Given the description of an element on the screen output the (x, y) to click on. 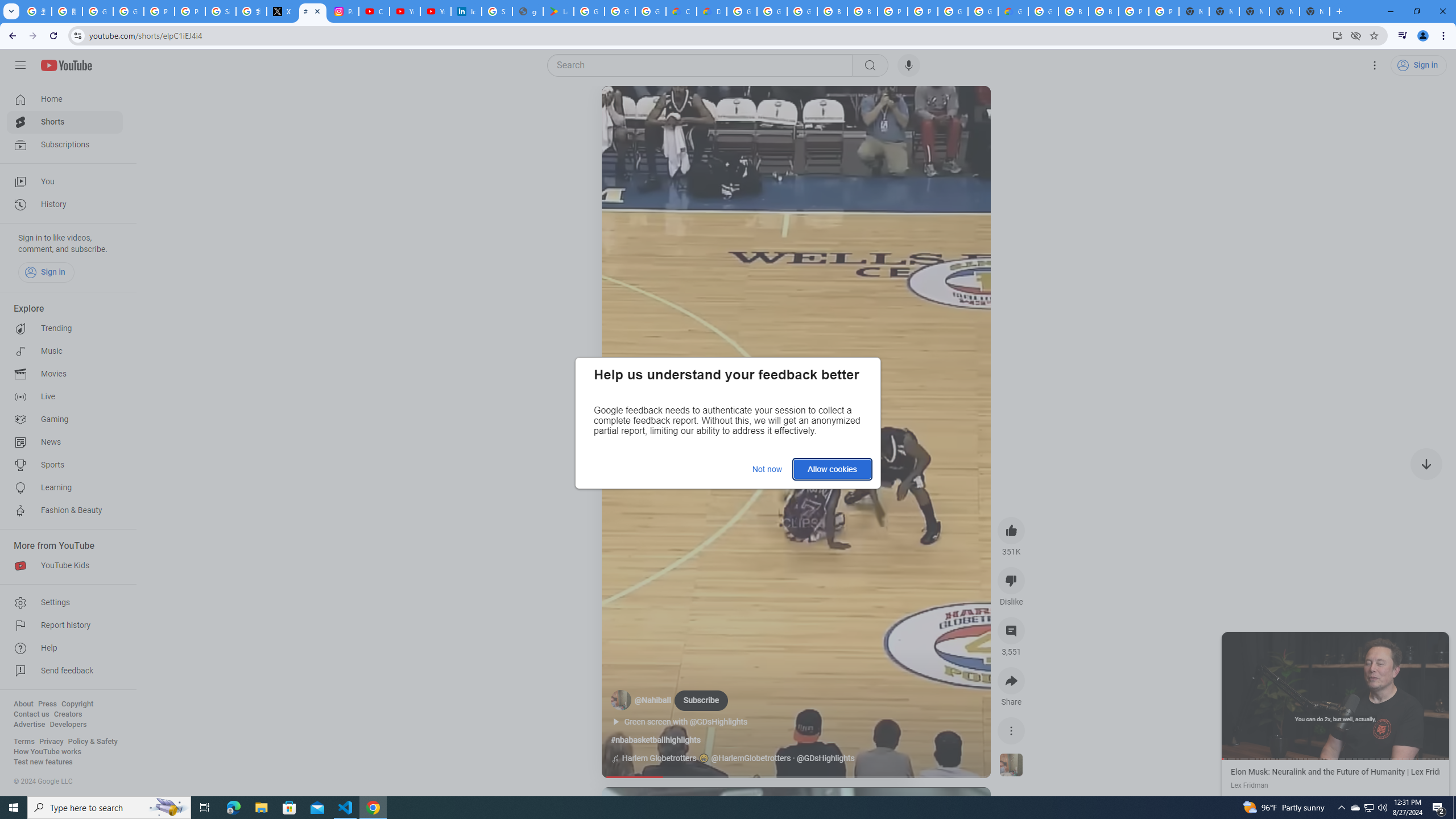
Settings (64, 602)
Not now (766, 468)
Gaming (64, 419)
Music (64, 350)
Seek slider (796, 776)
New Tab (1314, 11)
Browse Chrome as a guest - Computer - Google Chrome Help (862, 11)
Test new features (42, 761)
Google Workspace - Specific Terms (650, 11)
